Given the description of an element on the screen output the (x, y) to click on. 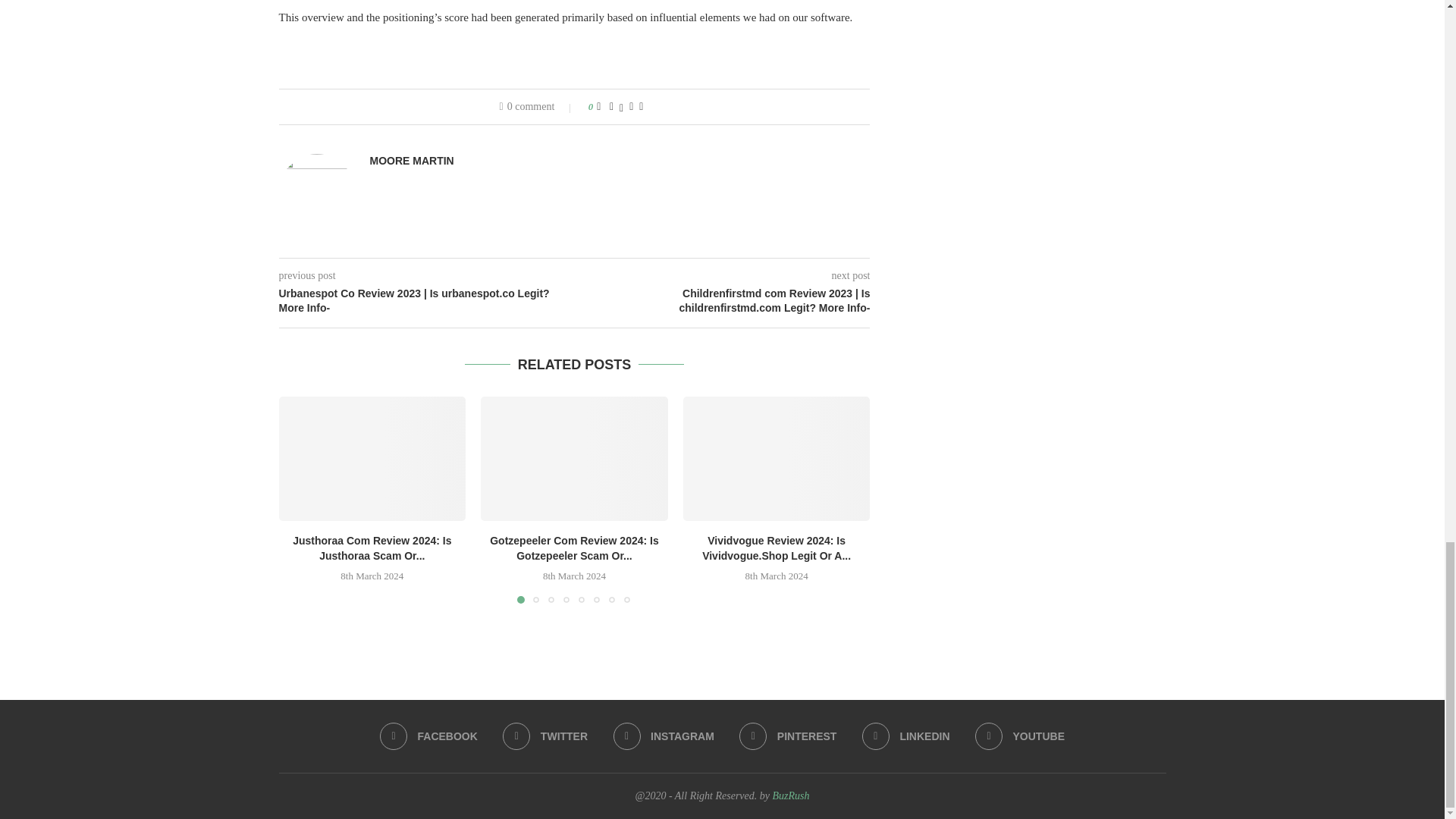
MOORE MARTIN (411, 160)
